Given the description of an element on the screen output the (x, y) to click on. 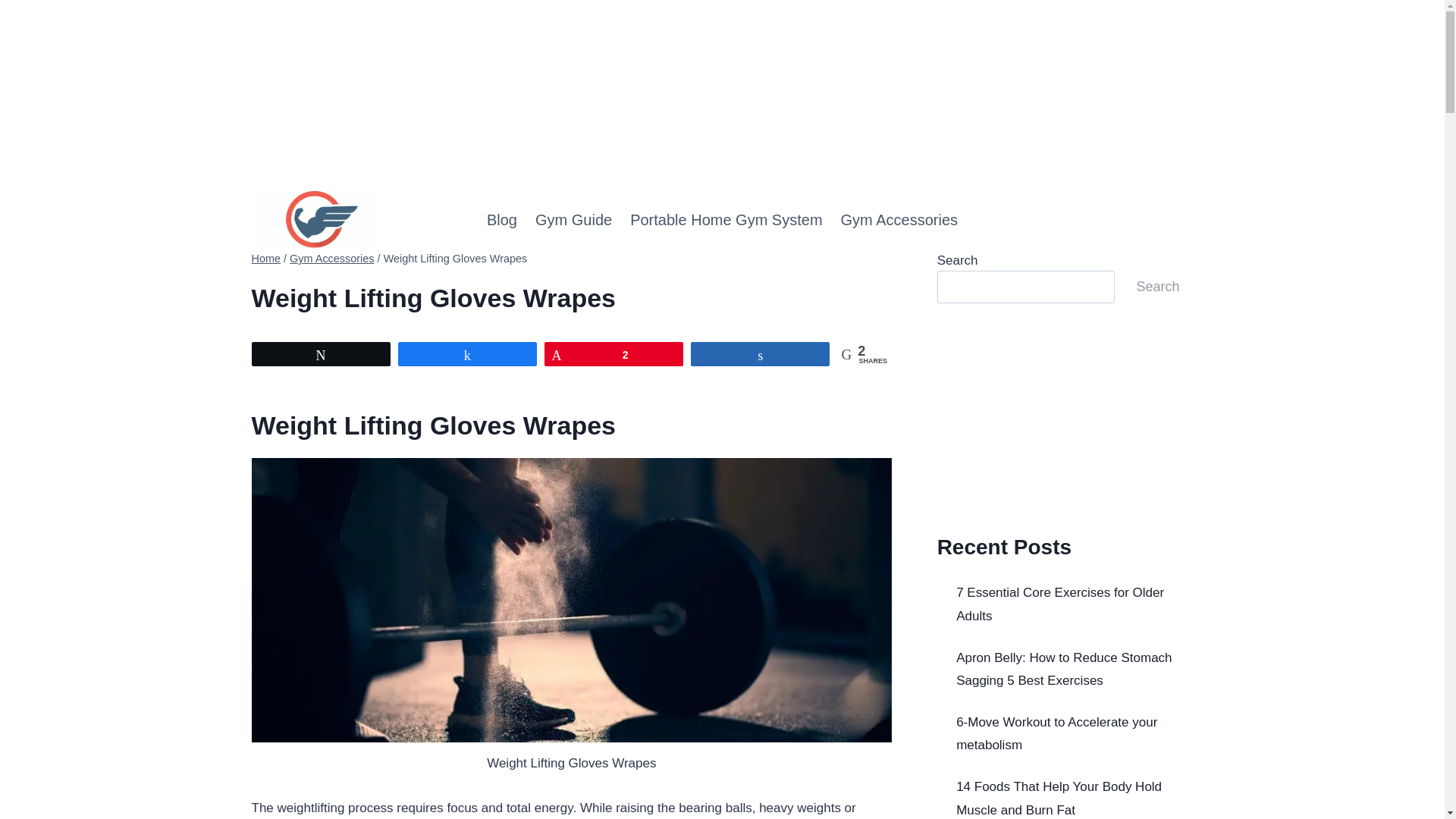
Gym Guide (573, 219)
Gym Accessories (898, 219)
Home (266, 258)
Gym Accessories (331, 258)
Blog (501, 219)
2 (613, 354)
Portable Home Gym System (726, 219)
